Given the description of an element on the screen output the (x, y) to click on. 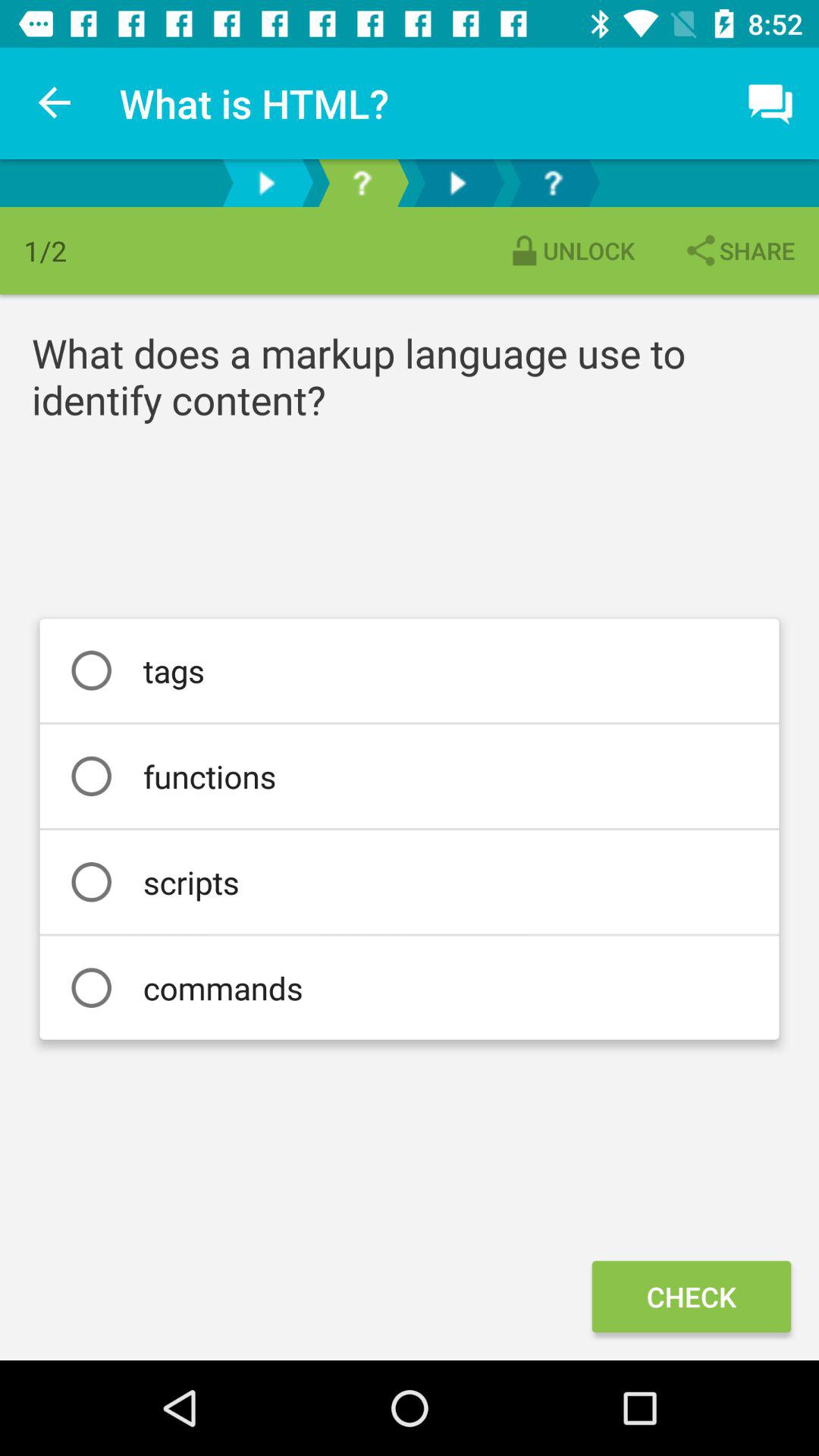
questions (361, 183)
